Given the description of an element on the screen output the (x, y) to click on. 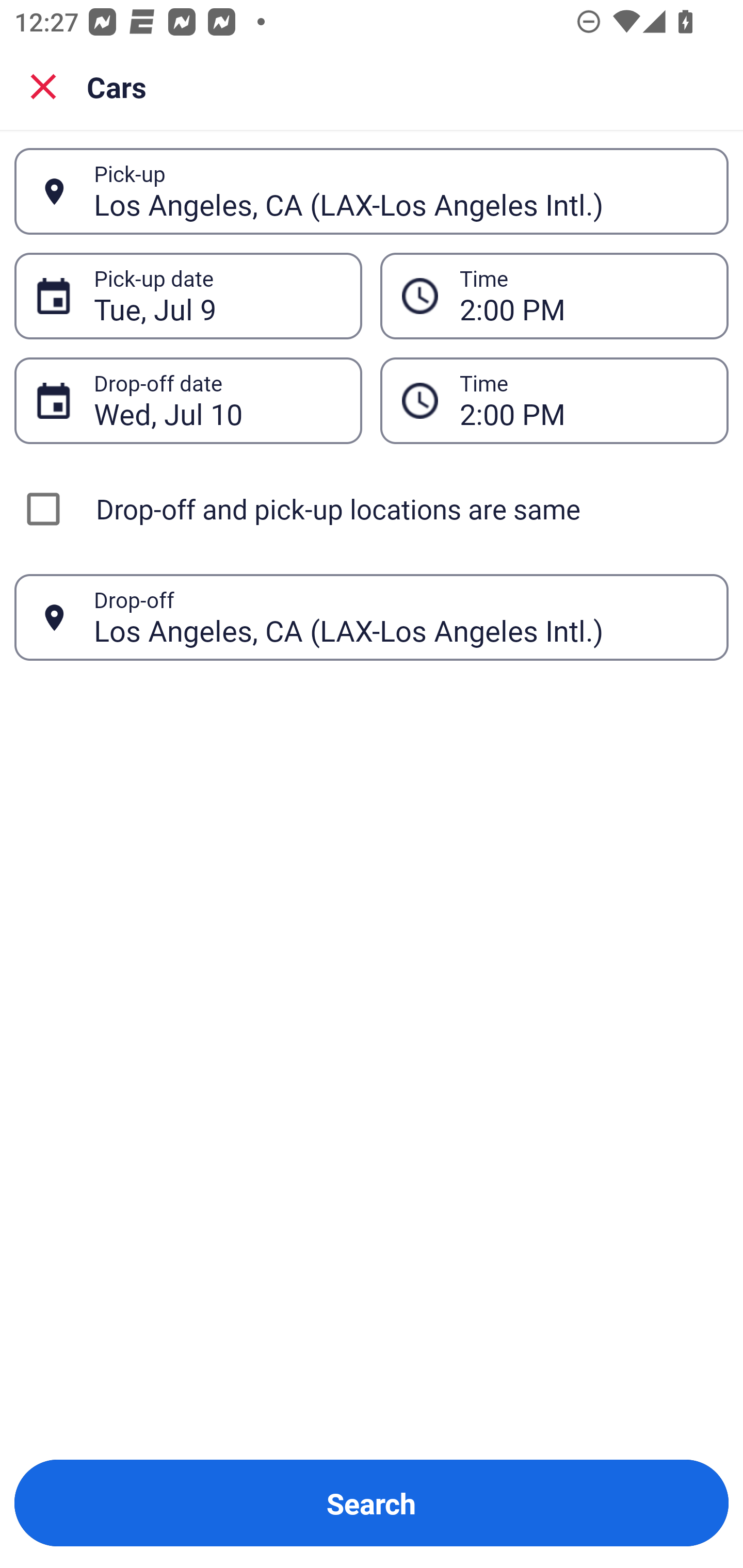
Close search screen (43, 86)
Los Angeles, CA (LAX-Los Angeles Intl.) Pick-up (371, 191)
Los Angeles, CA (LAX-Los Angeles Intl.) (399, 191)
Tue, Jul 9 Pick-up date (188, 295)
2:00 PM (554, 295)
Tue, Jul 9 (216, 296)
2:00 PM (582, 296)
Wed, Jul 10 Drop-off date (188, 400)
2:00 PM (554, 400)
Wed, Jul 10 (216, 400)
2:00 PM (582, 400)
Drop-off and pick-up locations are same (371, 508)
Los Angeles, CA (LAX-Los Angeles Intl.) Drop-off (371, 616)
Los Angeles, CA (LAX-Los Angeles Intl.) (399, 616)
Search Button Search (371, 1502)
